Given the description of an element on the screen output the (x, y) to click on. 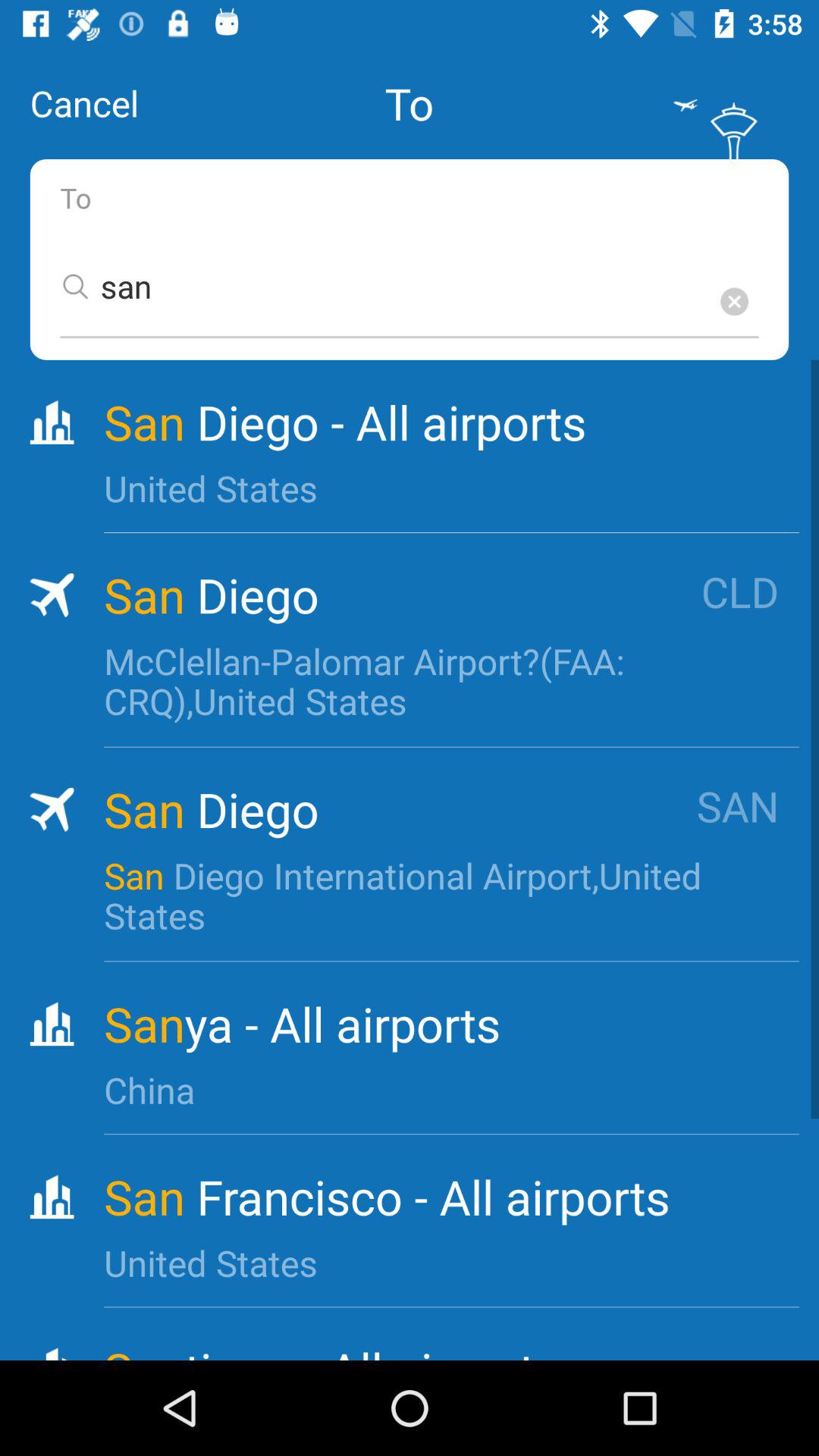
clear text (734, 301)
